Given the description of an element on the screen output the (x, y) to click on. 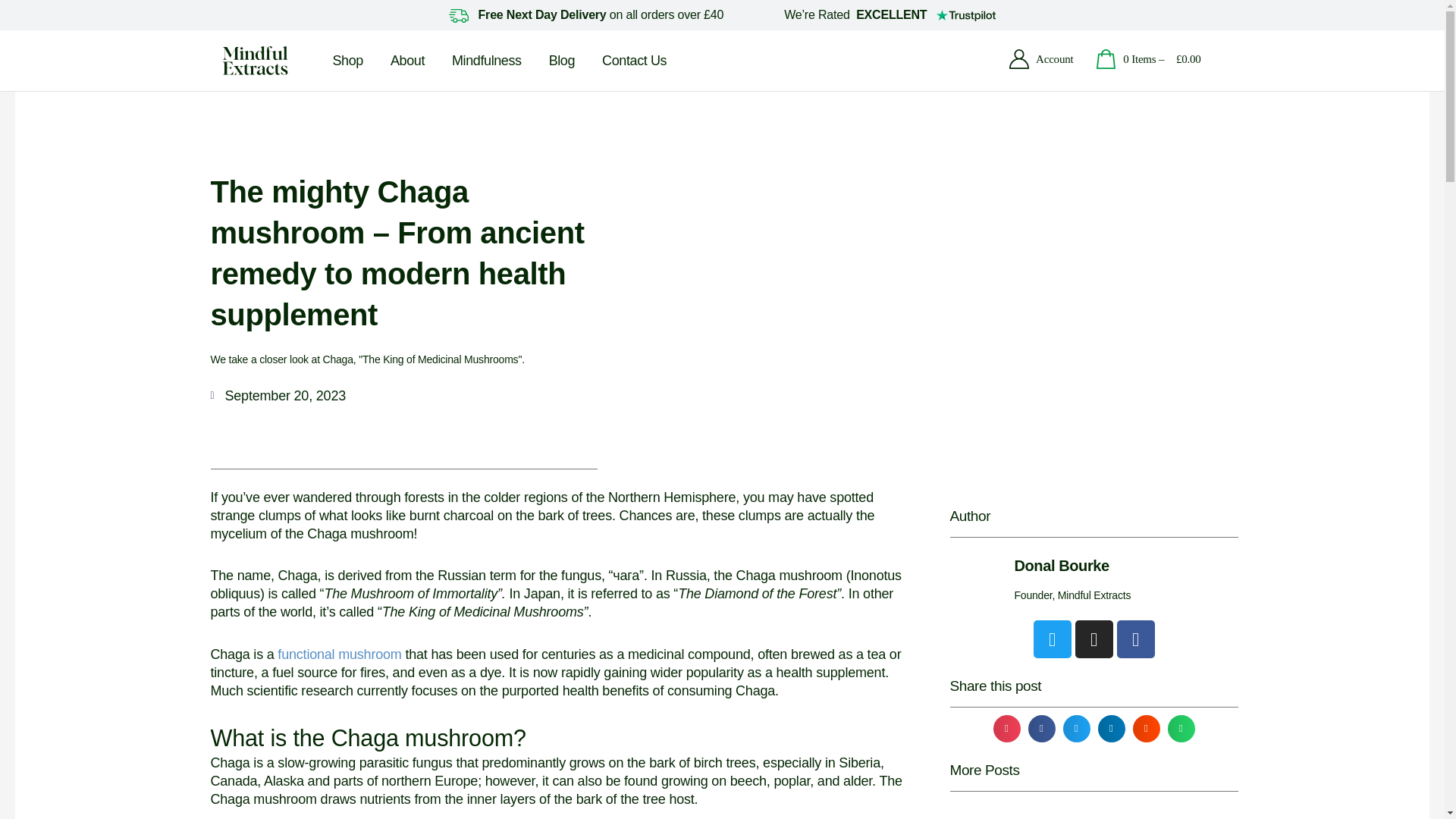
Shop (346, 60)
About (407, 60)
Mindfulness (486, 60)
Contact Us (633, 60)
